Given the description of an element on the screen output the (x, y) to click on. 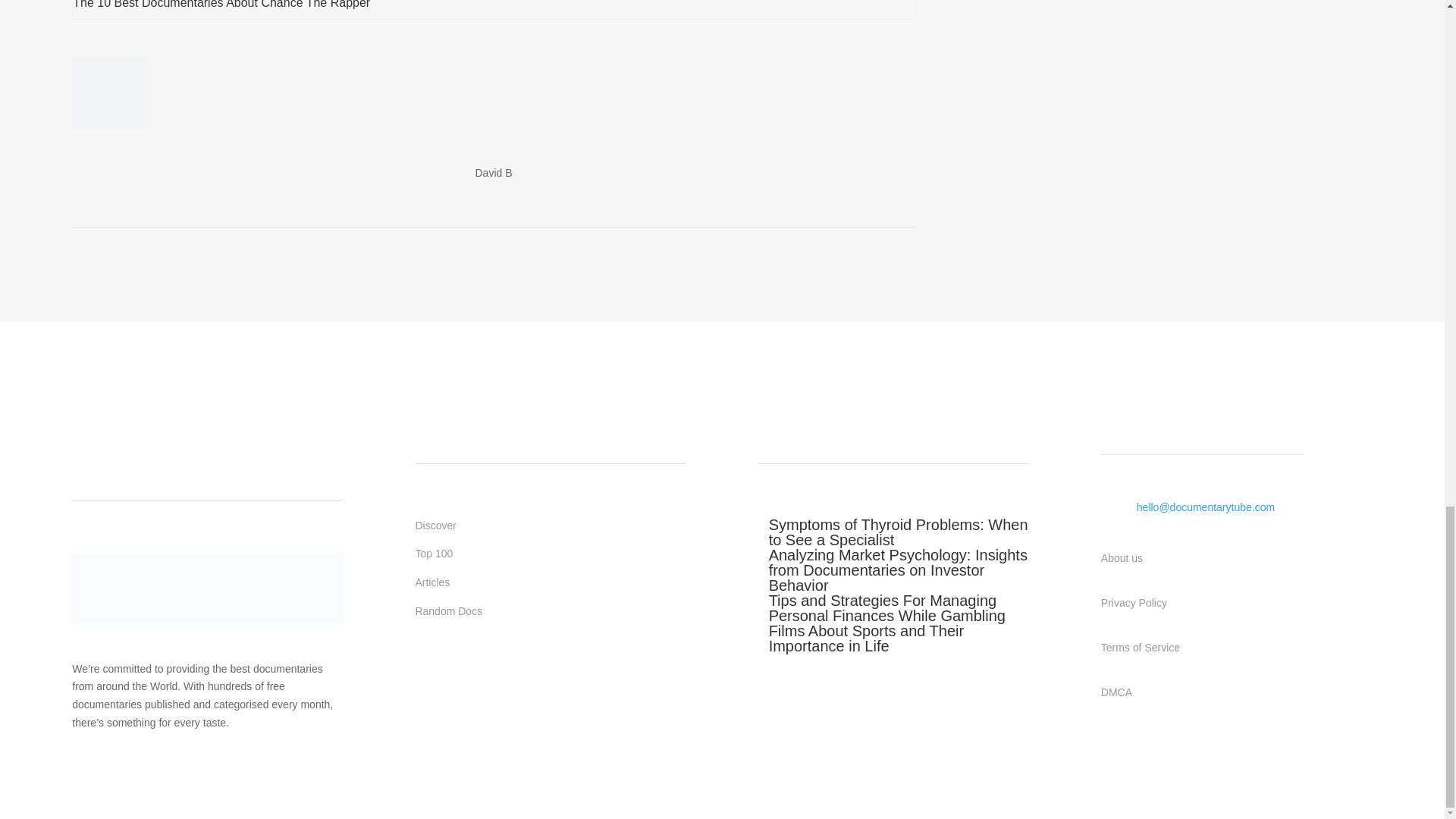
Follow on Facebook (426, 668)
The 10 Best Documentaries About Chance The Rapper (220, 4)
dc-removebg-preview (207, 588)
